Given the description of an element on the screen output the (x, y) to click on. 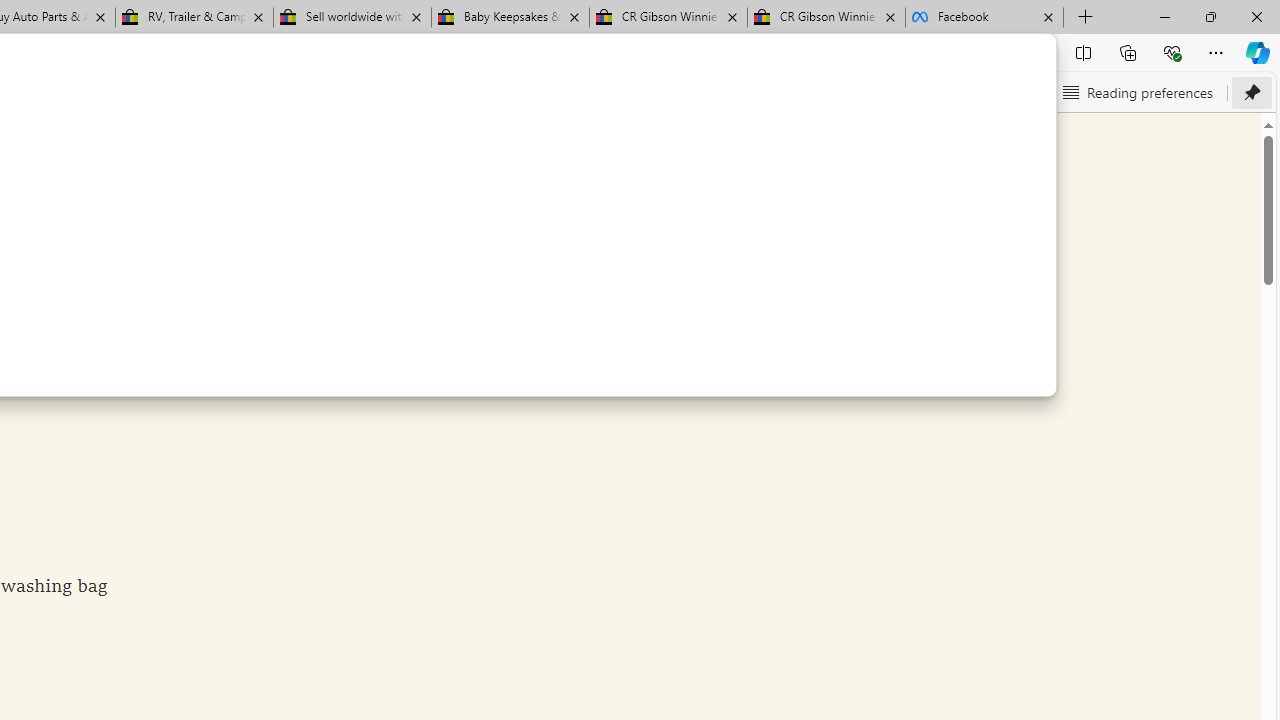
Read aloud (846, 92)
Facebook (984, 17)
Text preferences (976, 92)
Reading preferences (1136, 92)
RV, Trailer & Camper Steps & Ladders for sale | eBay (194, 17)
Baby Keepsakes & Announcements for sale | eBay (509, 17)
